Given the description of an element on the screen output the (x, y) to click on. 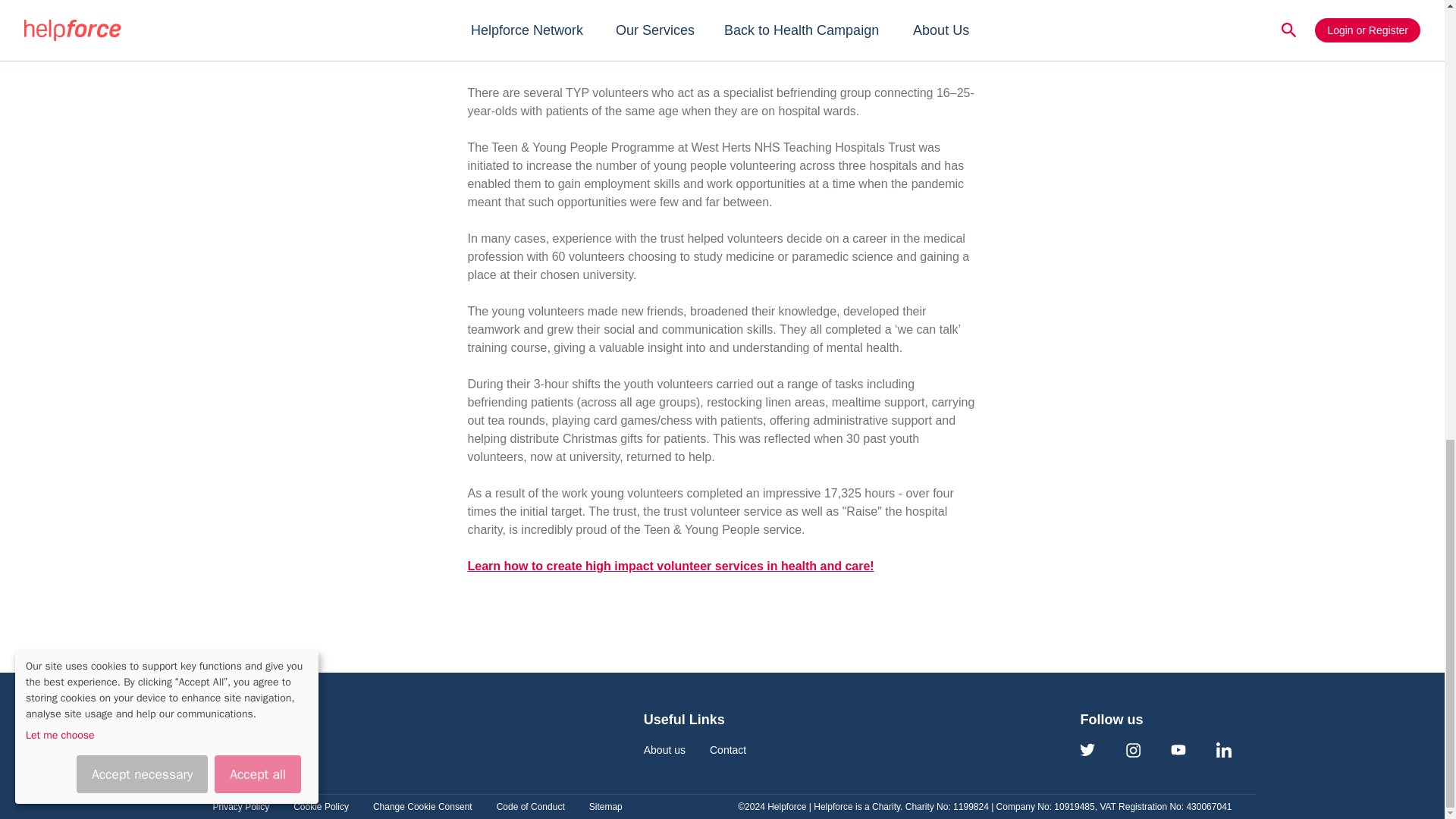
About us (664, 749)
